Given the description of an element on the screen output the (x, y) to click on. 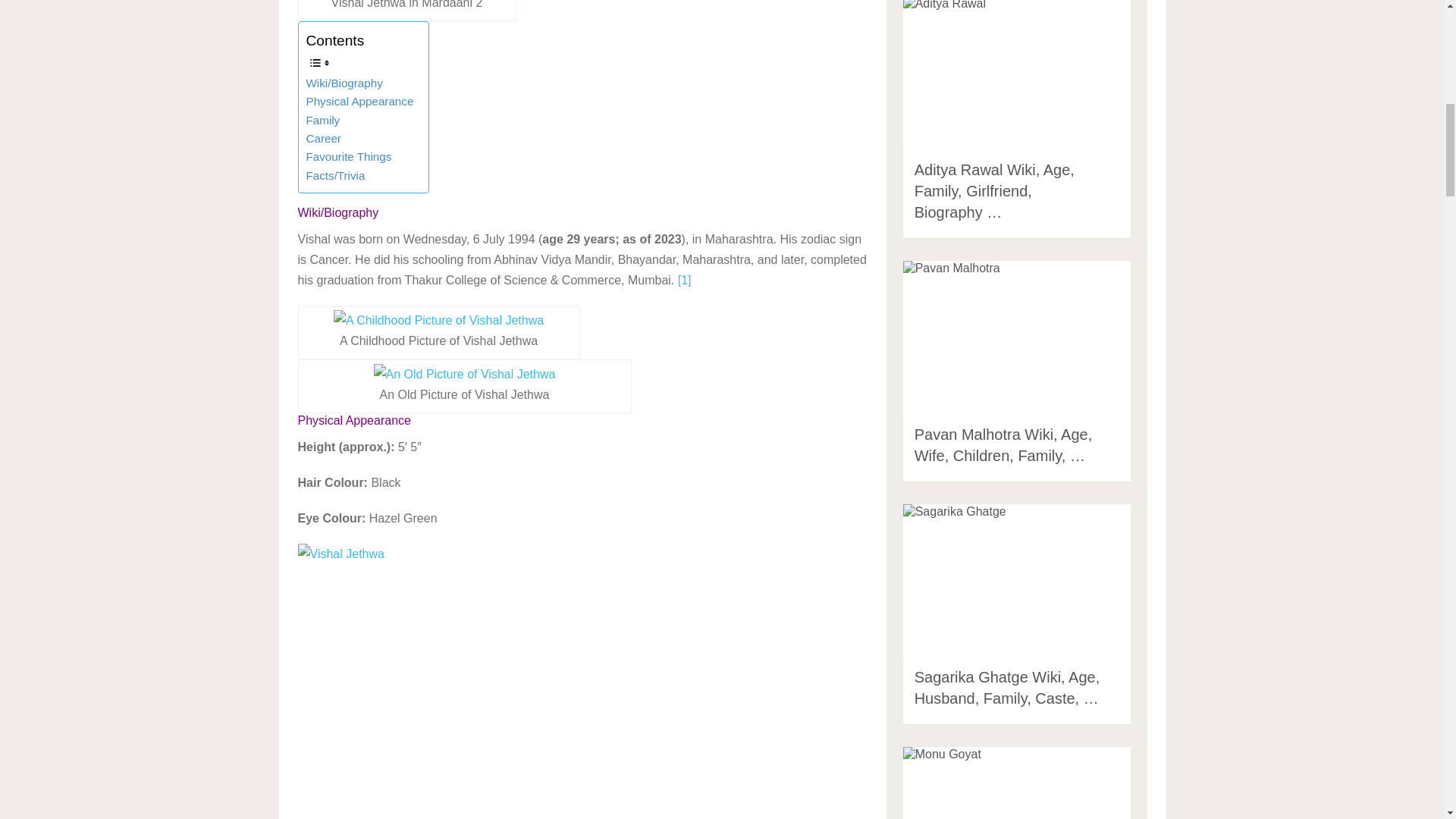
Family (322, 120)
Career (322, 138)
Family (322, 120)
Favourite Things (348, 157)
Physical Appearance (359, 101)
Career (322, 138)
Favourite Things (348, 157)
Physical Appearance (359, 101)
